Given the description of an element on the screen output the (x, y) to click on. 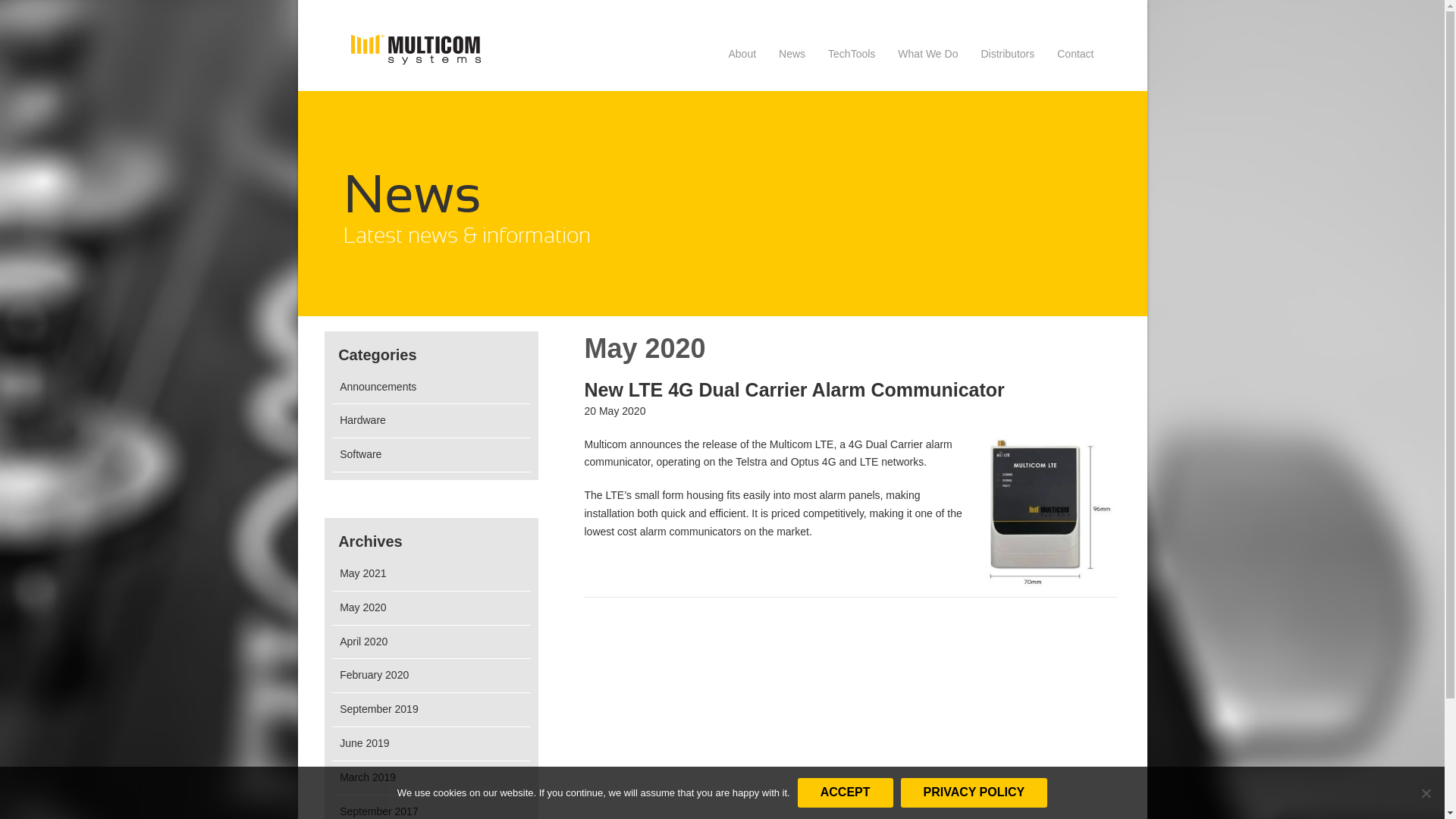
Announcements Element type: text (377, 386)
April 2020 Element type: text (363, 641)
ACCEPT Element type: text (845, 792)
May 2021 Element type: text (362, 573)
March 2019 Element type: text (367, 777)
About Element type: text (742, 56)
September 2017 Element type: text (378, 811)
Contact Element type: text (1075, 56)
No Element type: hover (1425, 792)
What We Do Element type: text (927, 56)
Hardware Element type: text (362, 420)
Software Element type: text (360, 454)
Distributors Element type: text (1007, 56)
February 2020 Element type: text (373, 674)
Multicom Systems Element type: hover (415, 49)
News Element type: text (791, 56)
May 2020 Element type: text (362, 607)
TechTools Element type: text (851, 56)
New LTE 4G Dual Carrier Alarm Communicator Element type: text (793, 389)
PRIVACY POLICY Element type: text (974, 792)
New LTE 4G Dual Carrier Alarm Communicator Element type: hover (1050, 512)
September 2019 Element type: text (378, 708)
June 2019 Element type: text (364, 743)
